Given the description of an element on the screen output the (x, y) to click on. 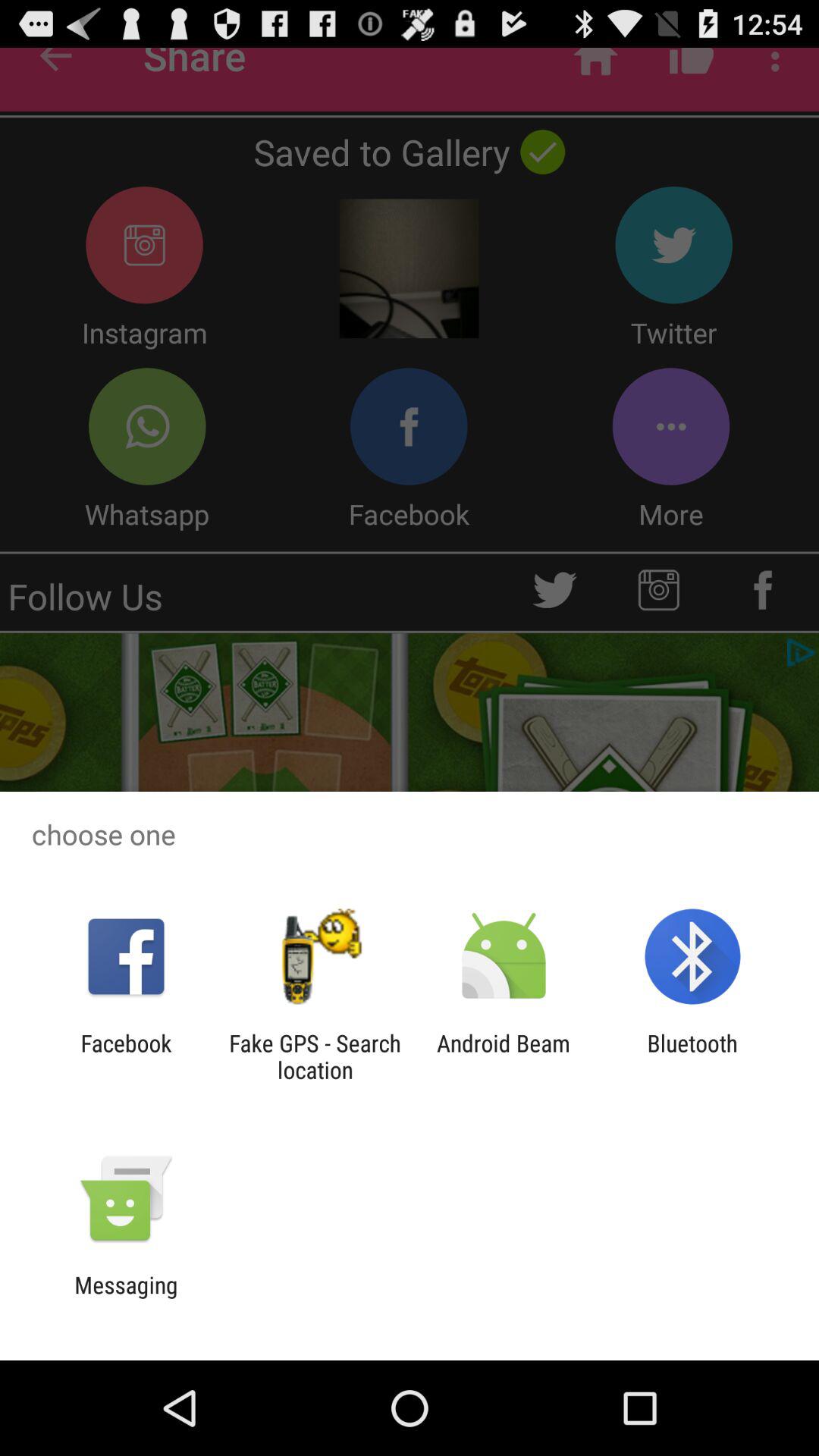
jump until android beam item (503, 1056)
